Given the description of an element on the screen output the (x, y) to click on. 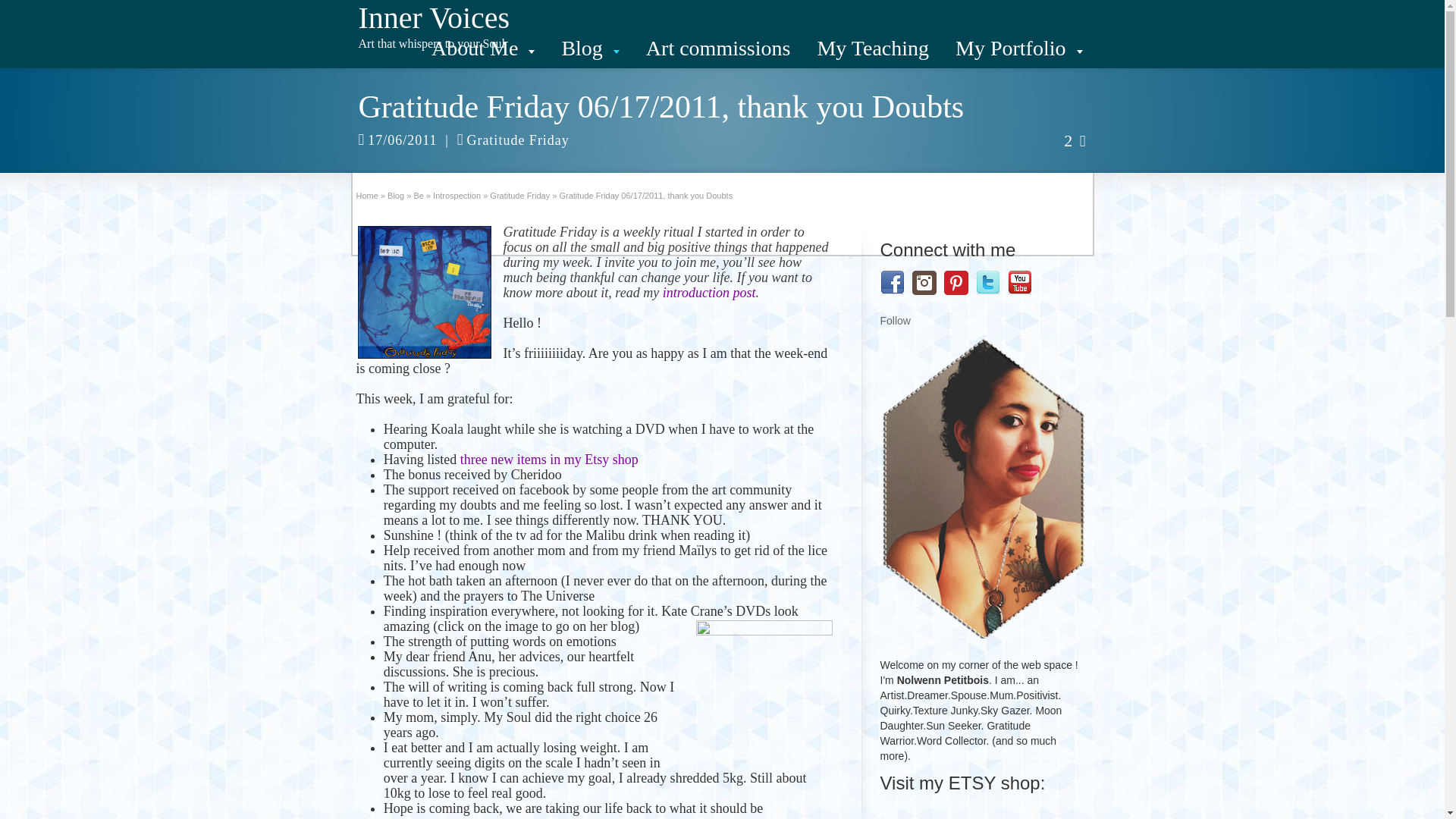
Inner Voices (433, 18)
Gratitude Friday (519, 194)
Blog (395, 194)
2 (1075, 140)
My Portfolio (1018, 48)
Art commissions (718, 48)
Blog (590, 48)
Kate Crane DVDs (763, 687)
Gratitude Friday (519, 194)
Home (367, 194)
